Given the description of an element on the screen output the (x, y) to click on. 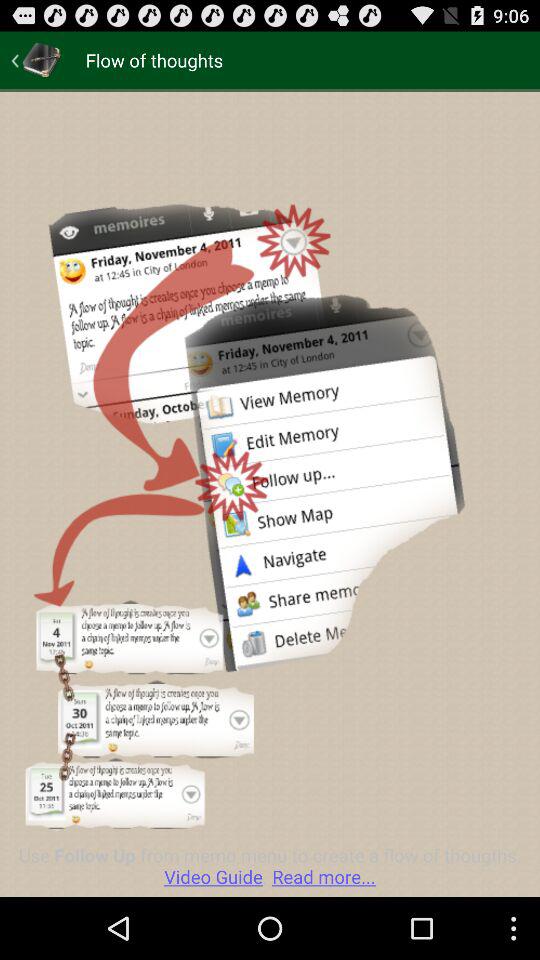
log in (36, 60)
